Given the description of an element on the screen output the (x, y) to click on. 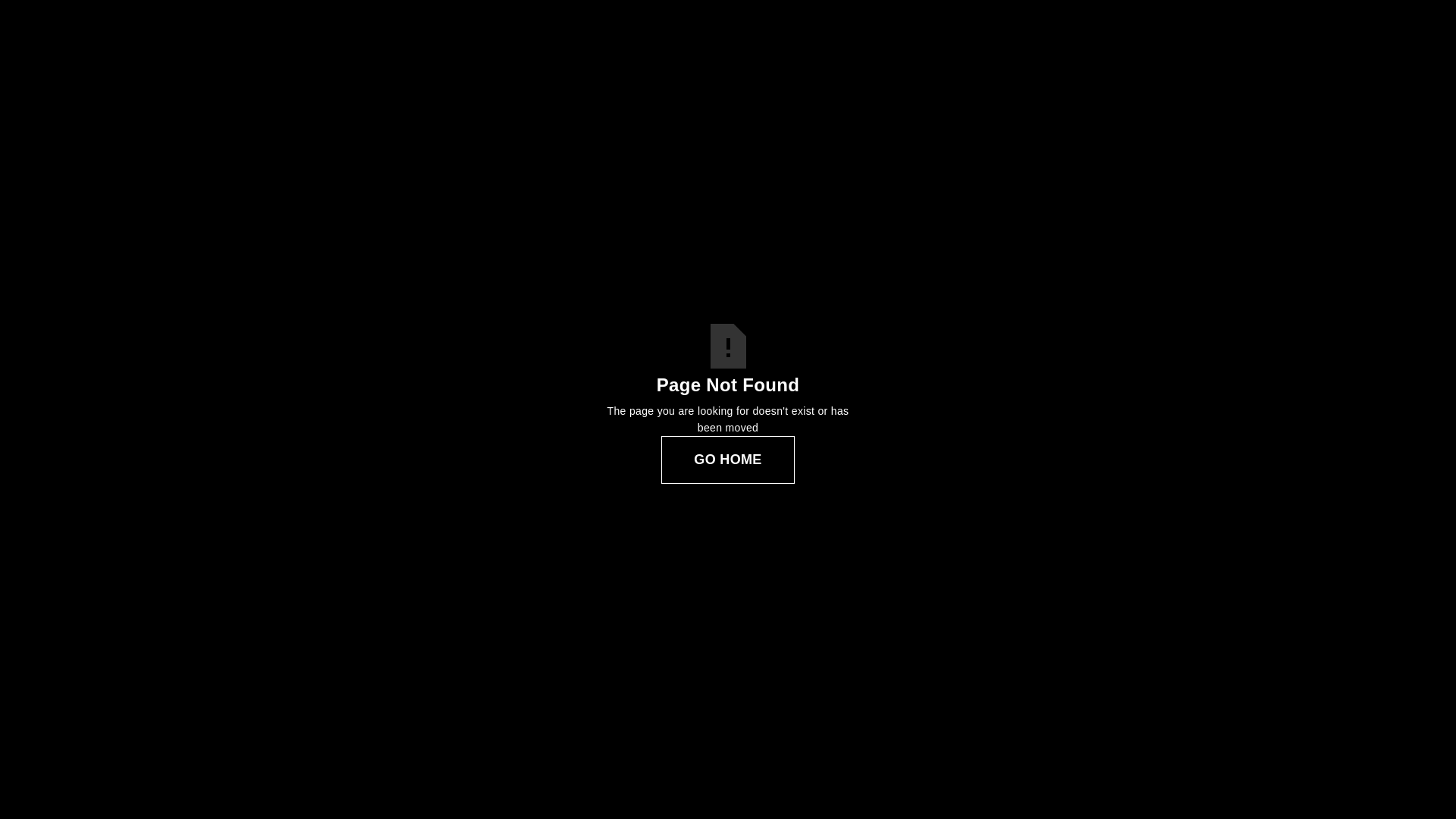
GO HOME Element type: text (727, 459)
